Given the description of an element on the screen output the (x, y) to click on. 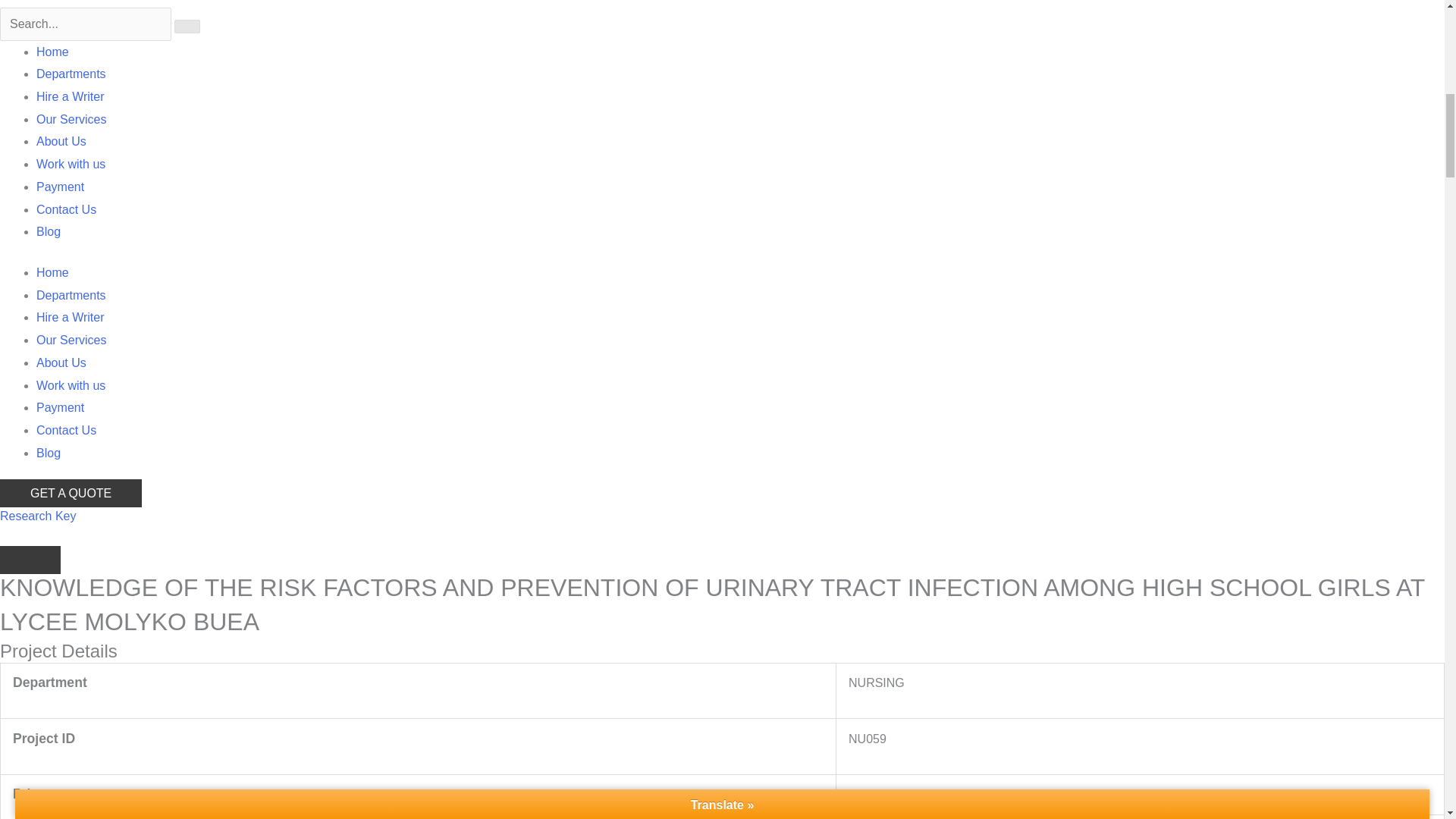
About Us (60, 362)
Hire a Writer (70, 96)
Departments (71, 295)
About Us (60, 141)
Our Services (71, 119)
Home (52, 51)
Payment (60, 407)
Blog (48, 231)
Our Services (71, 339)
Work with us (70, 164)
